Given the description of an element on the screen output the (x, y) to click on. 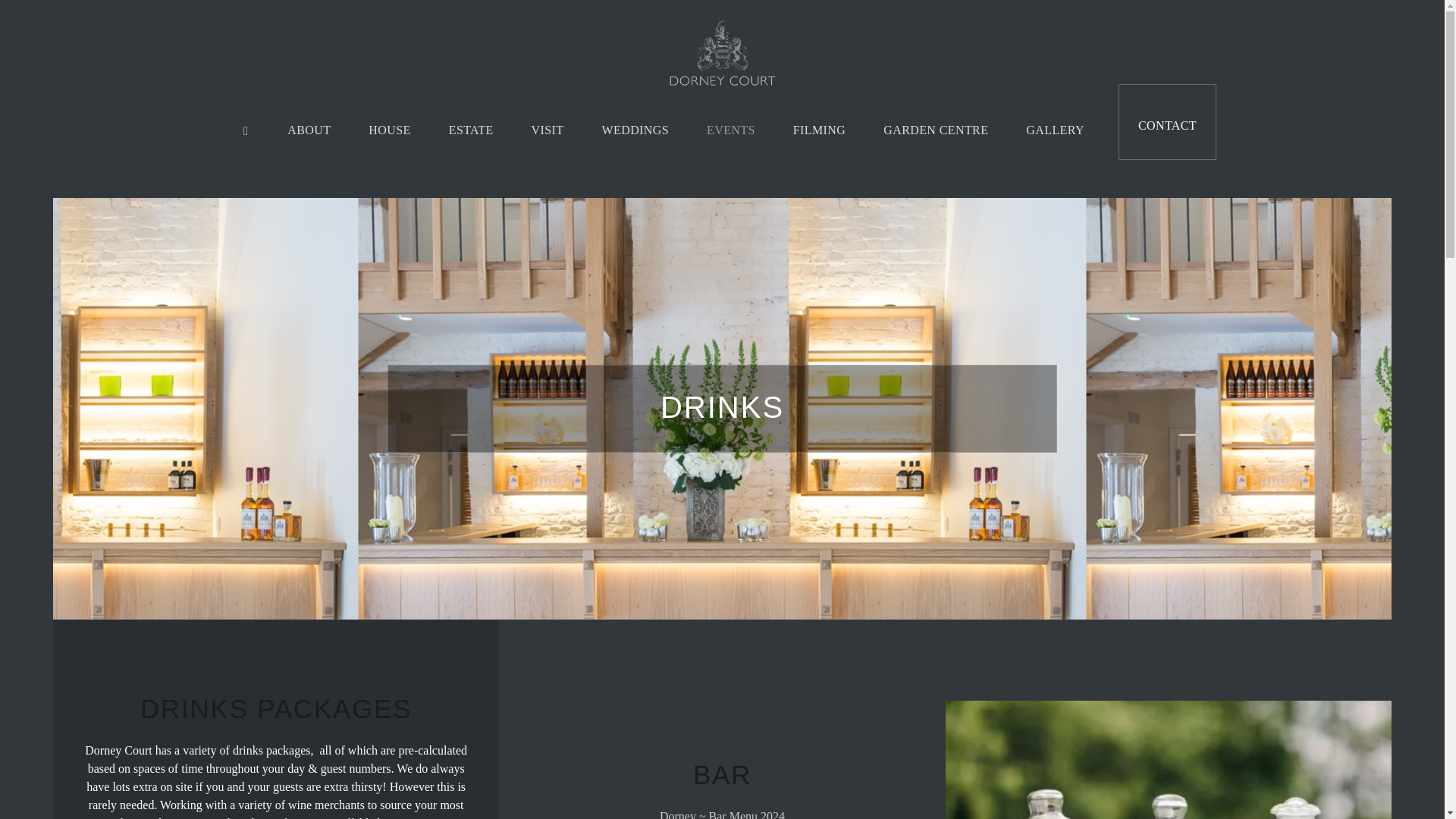
WEDDINGS (634, 129)
HOUSE (389, 129)
ESTATE (470, 129)
ABOUT (308, 129)
VISIT (547, 129)
